Given the description of an element on the screen output the (x, y) to click on. 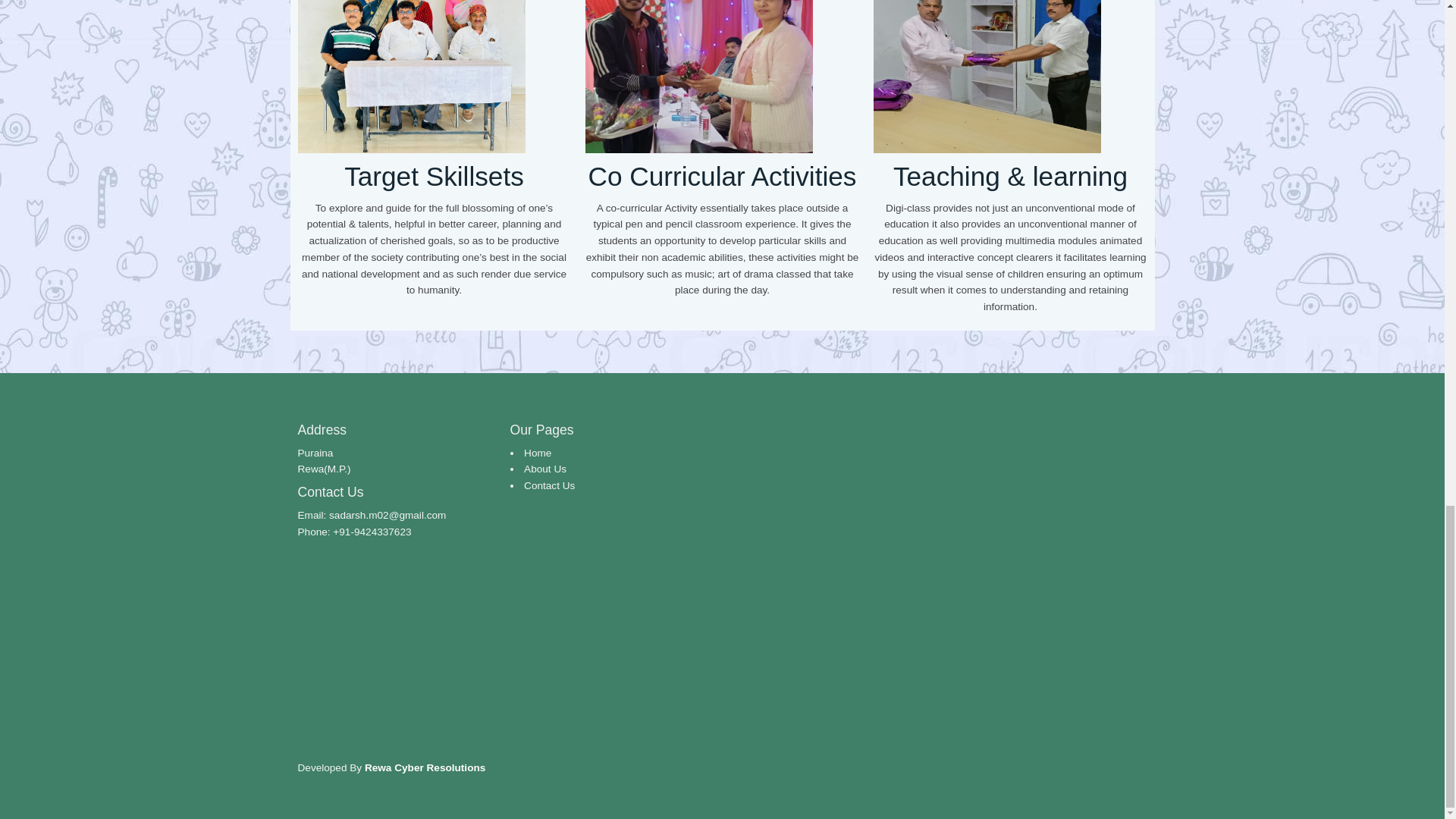
Home (537, 452)
About Us (545, 469)
Contact Us (549, 485)
Rewa Cyber Resolutions (424, 767)
